Given the description of an element on the screen output the (x, y) to click on. 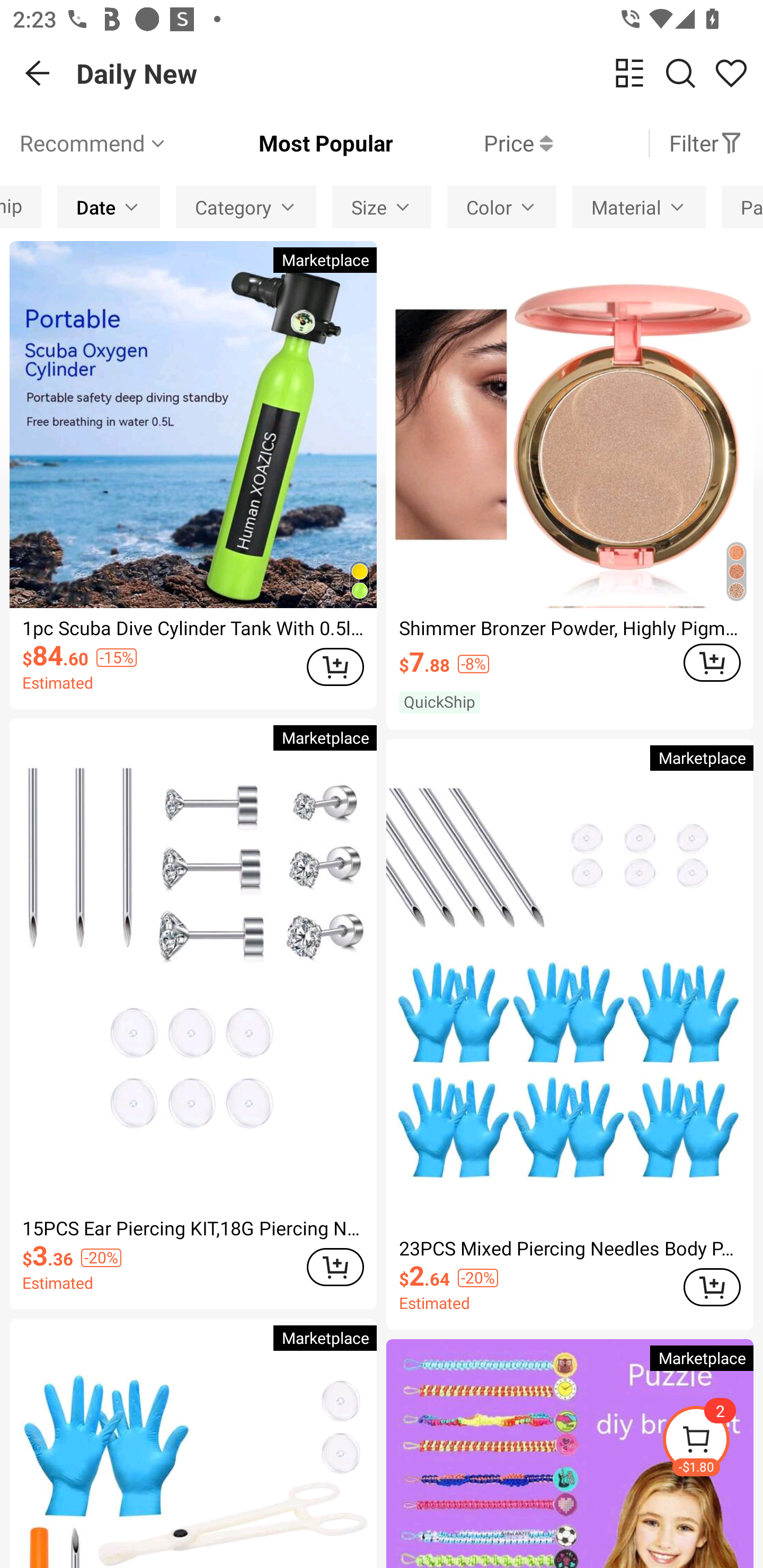
Daily New change view Search Share (419, 72)
change view (629, 72)
Search (679, 72)
Share (730, 72)
Recommend (93, 143)
Most Popular (280, 143)
Price (472, 143)
Filter (705, 143)
Date (108, 206)
Category (246, 206)
Size (381, 206)
Color (501, 206)
Material (638, 206)
ADD TO CART (711, 662)
ADD TO CART (334, 666)
ADD TO CART (334, 1266)
ADD TO CART (711, 1287)
-$1.80 (712, 1441)
